Given the description of an element on the screen output the (x, y) to click on. 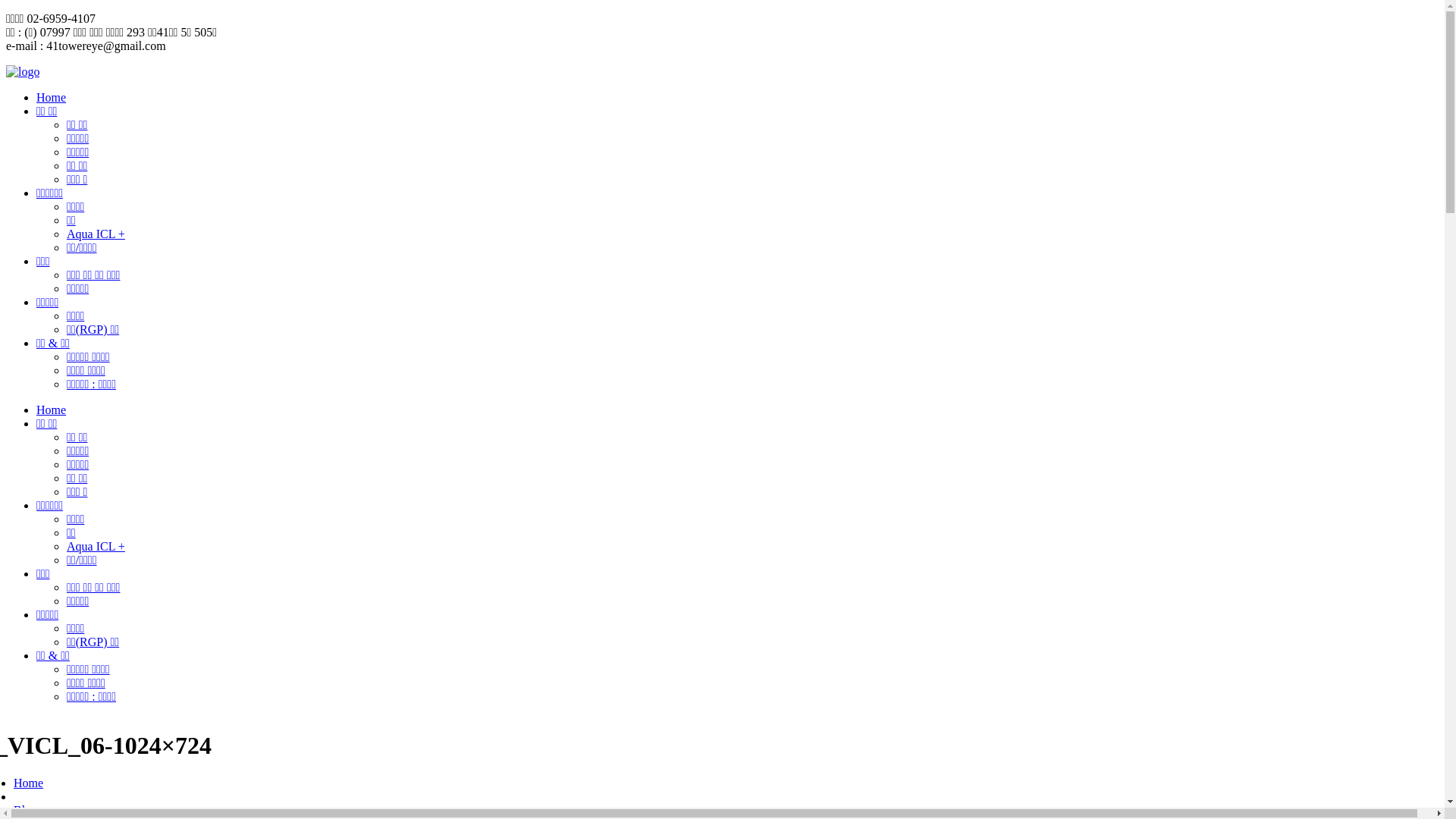
Home Element type: text (50, 97)
Home Element type: text (28, 782)
Blog Element type: text (25, 809)
Aqua ICL + Element type: text (95, 545)
Aqua ICL + Element type: text (95, 233)
Home Element type: text (50, 409)
